Given the description of an element on the screen output the (x, y) to click on. 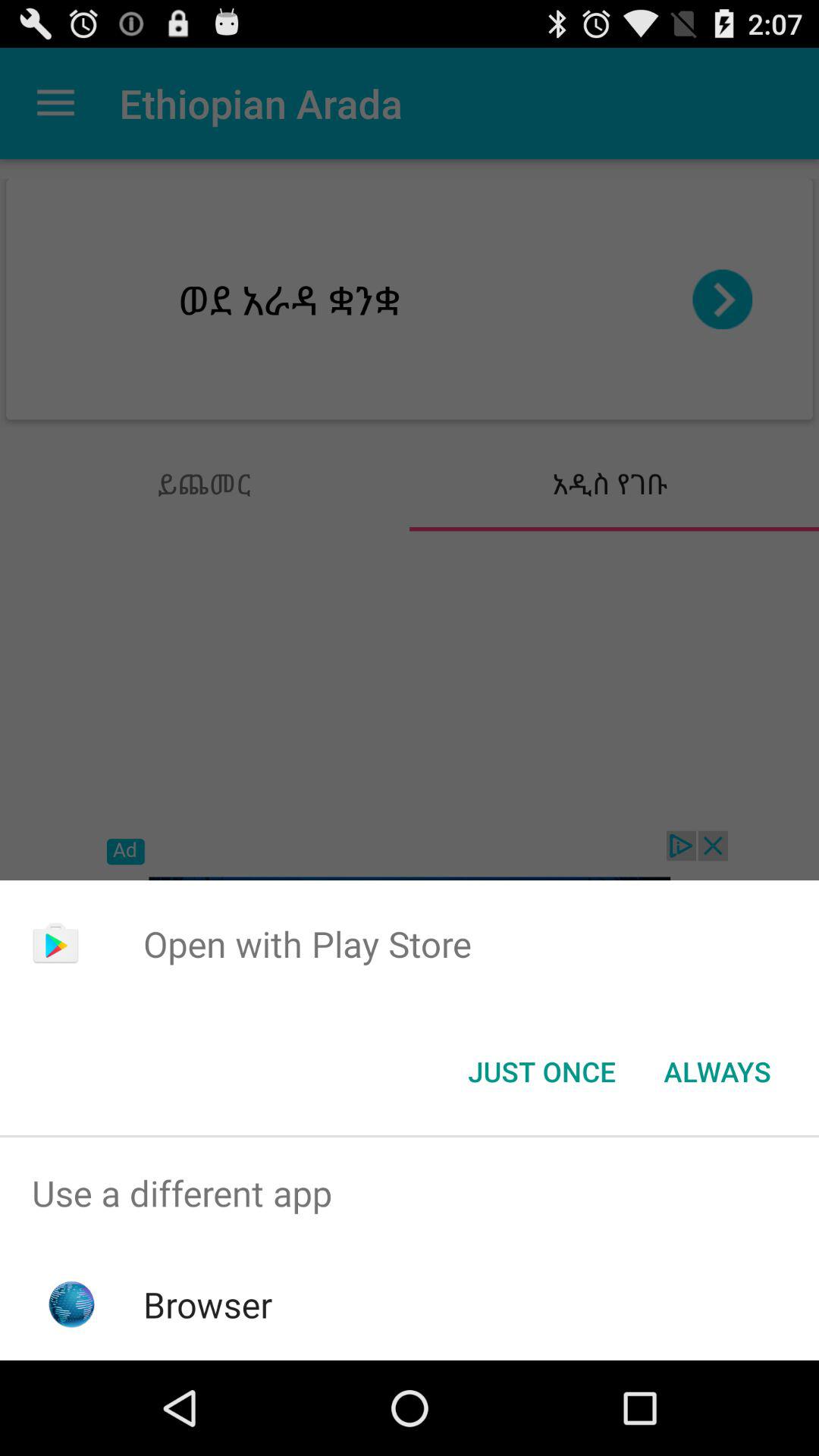
turn off the browser item (207, 1304)
